Given the description of an element on the screen output the (x, y) to click on. 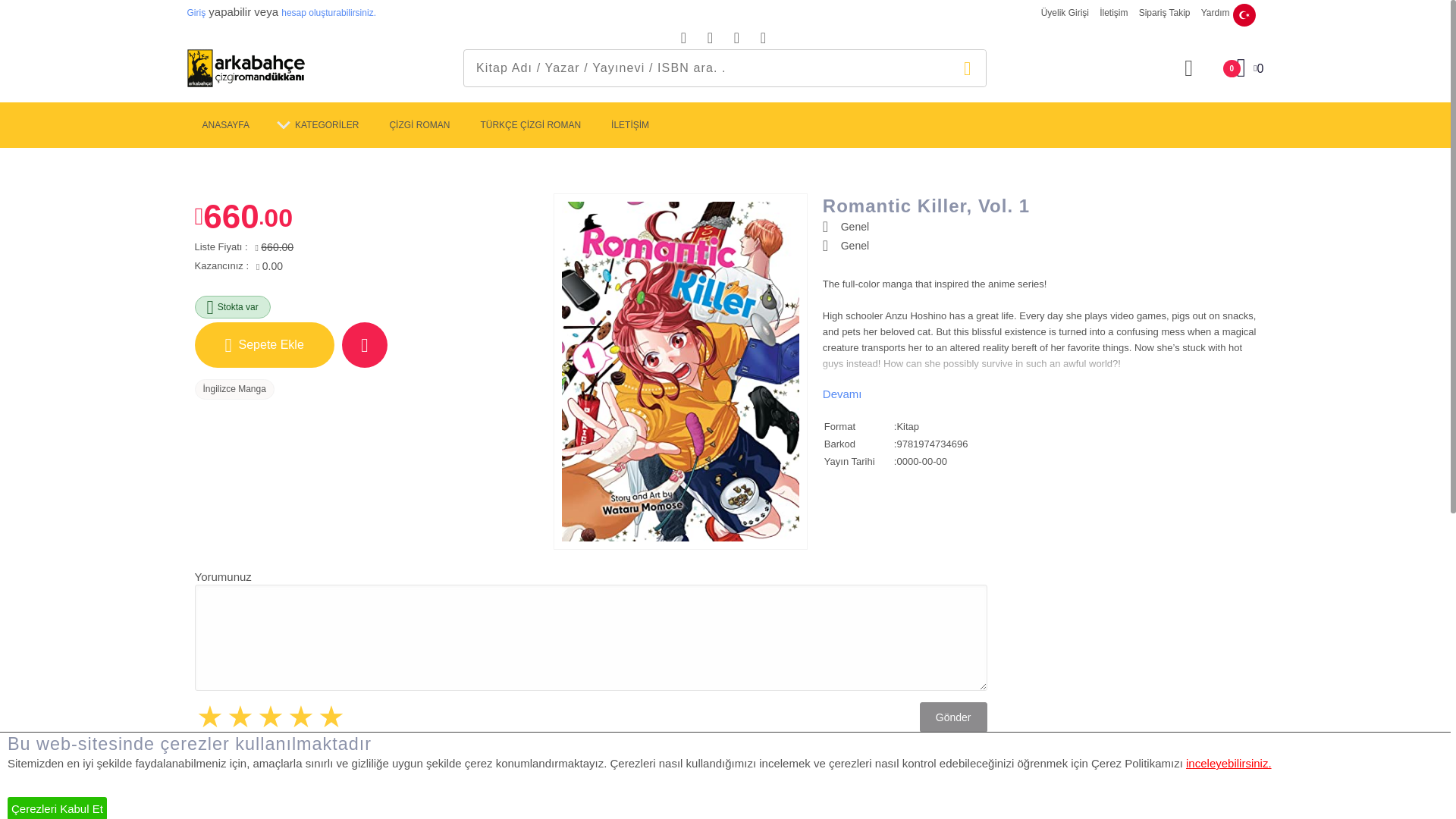
Sepete Ekle (1235, 67)
ANASAYFA (263, 344)
Favorilere Ekle (224, 125)
Toplam :0 TL (364, 344)
